Given the description of an element on the screen output the (x, y) to click on. 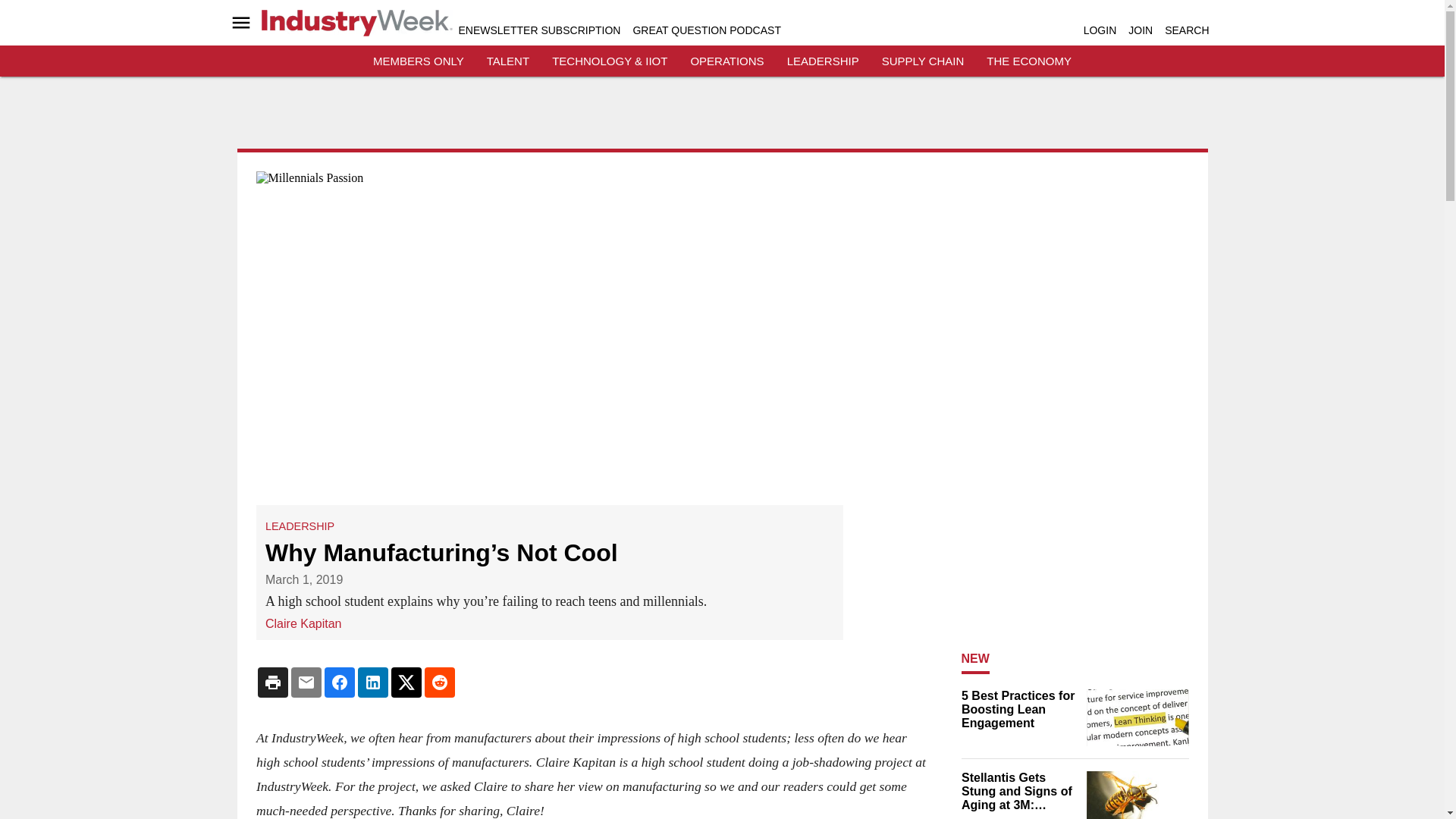
LEADERSHIP (299, 526)
OPERATIONS (726, 60)
GREAT QUESTION PODCAST (705, 30)
SEARCH (1186, 30)
MEMBERS ONLY (418, 60)
THE ECONOMY (1029, 60)
SUPPLY CHAIN (922, 60)
JOIN (1140, 30)
ENEWSLETTER SUBSCRIPTION (539, 30)
